Given the description of an element on the screen output the (x, y) to click on. 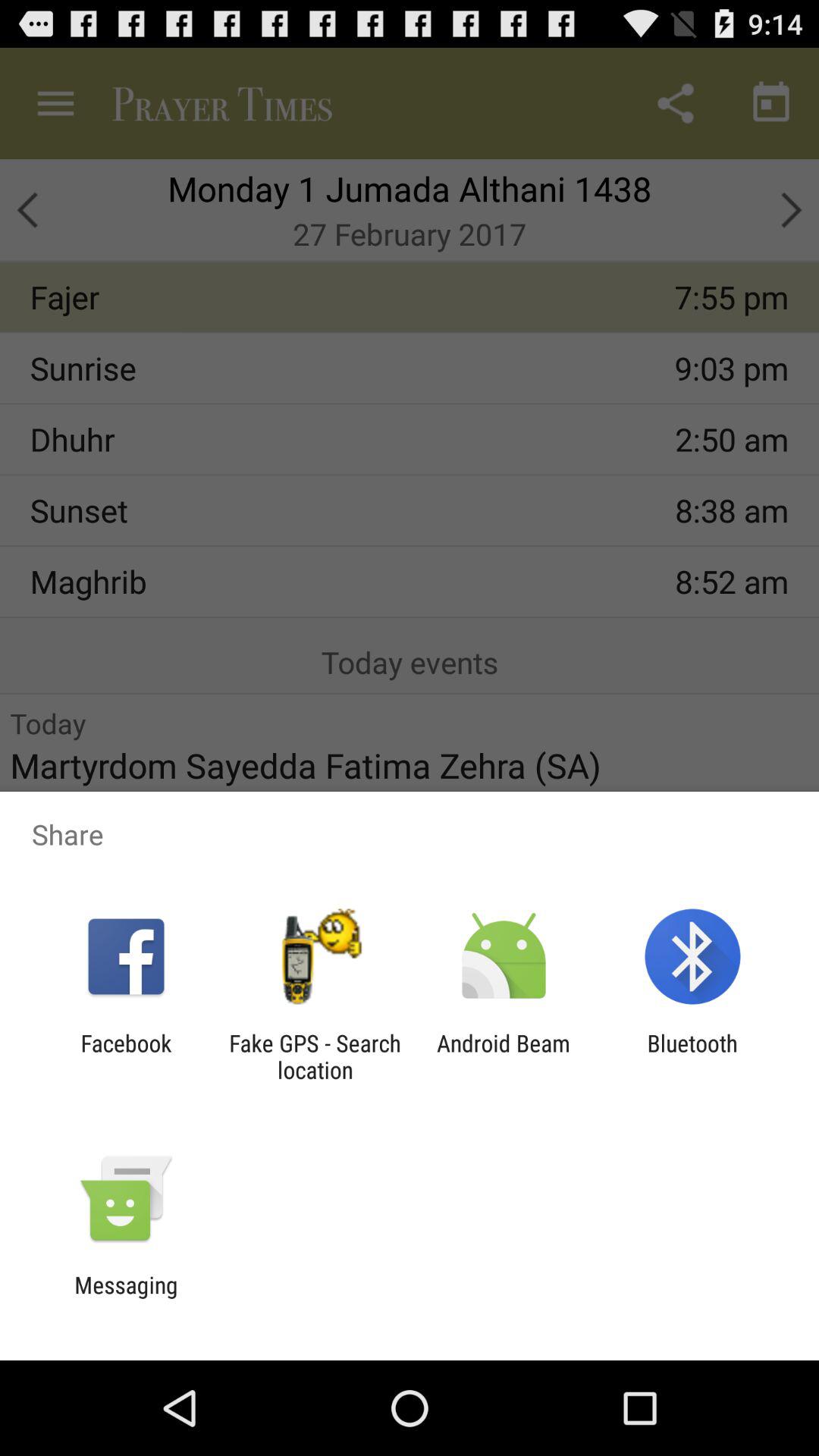
choose icon next to android beam icon (314, 1056)
